Given the description of an element on the screen output the (x, y) to click on. 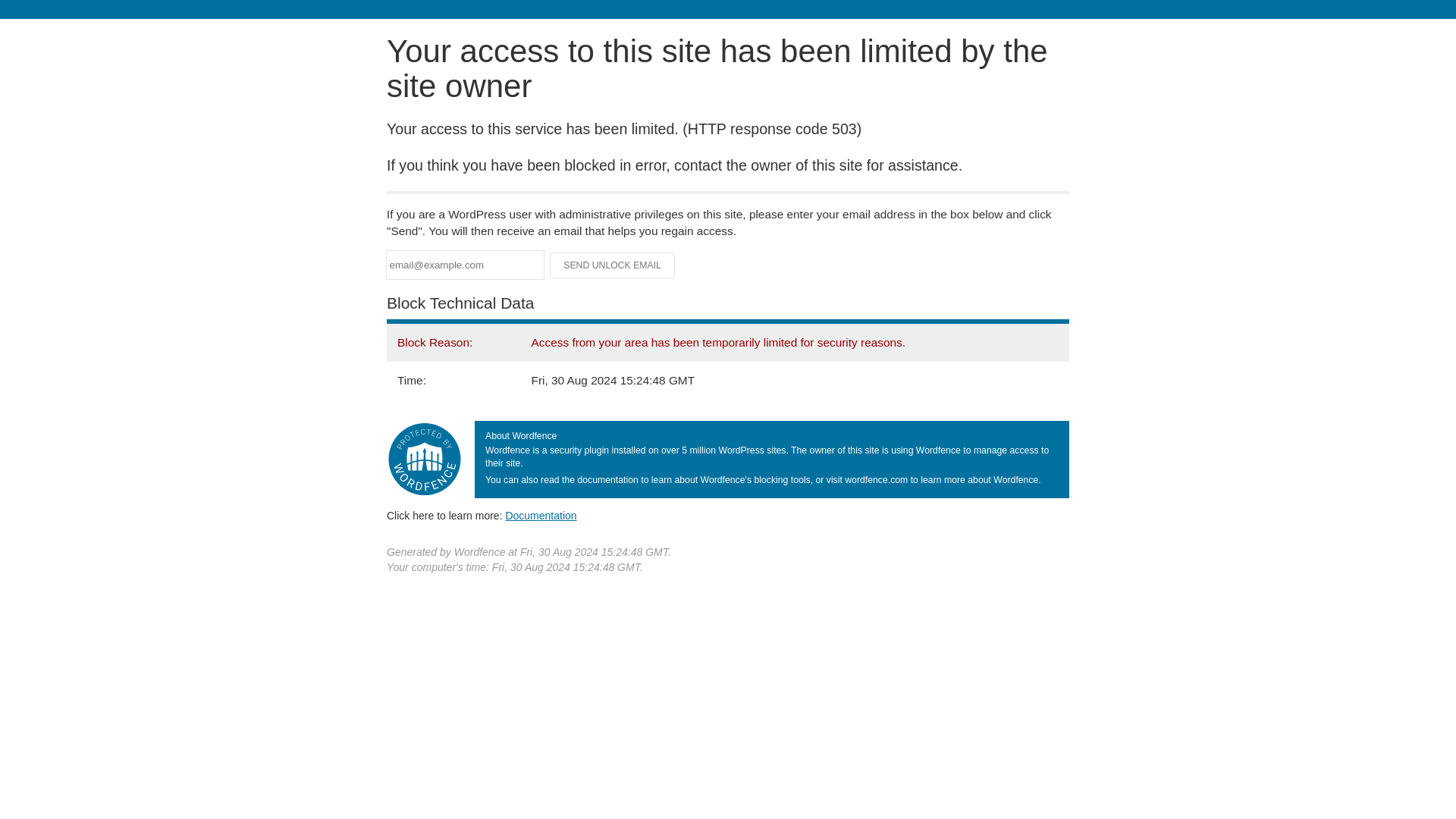
Documentation (540, 515)
Send Unlock Email (612, 265)
Send Unlock Email (612, 265)
